Given the description of an element on the screen output the (x, y) to click on. 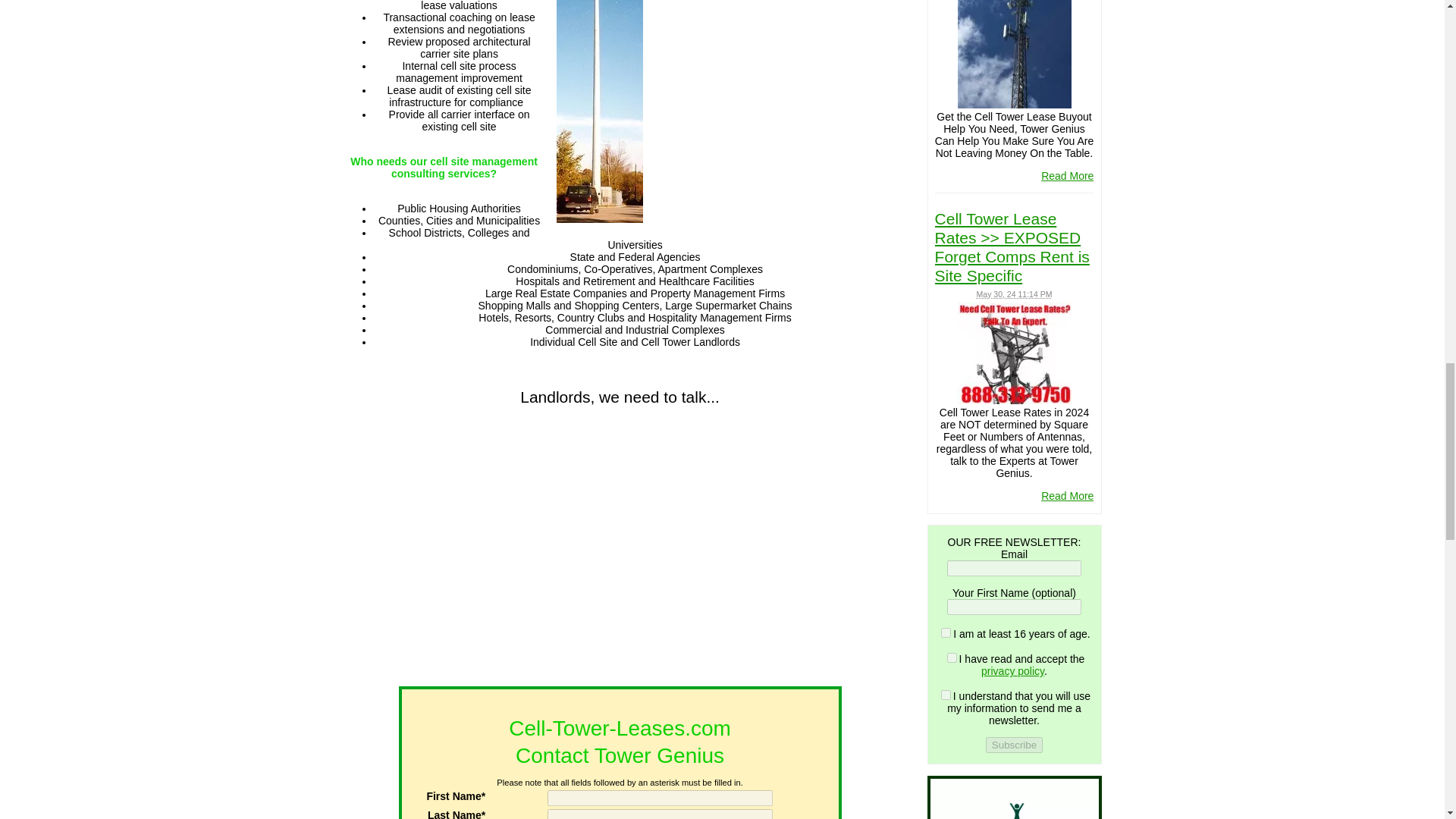
2024-05-30T23:14:30-0400 (1014, 293)
